Given the description of an element on the screen output the (x, y) to click on. 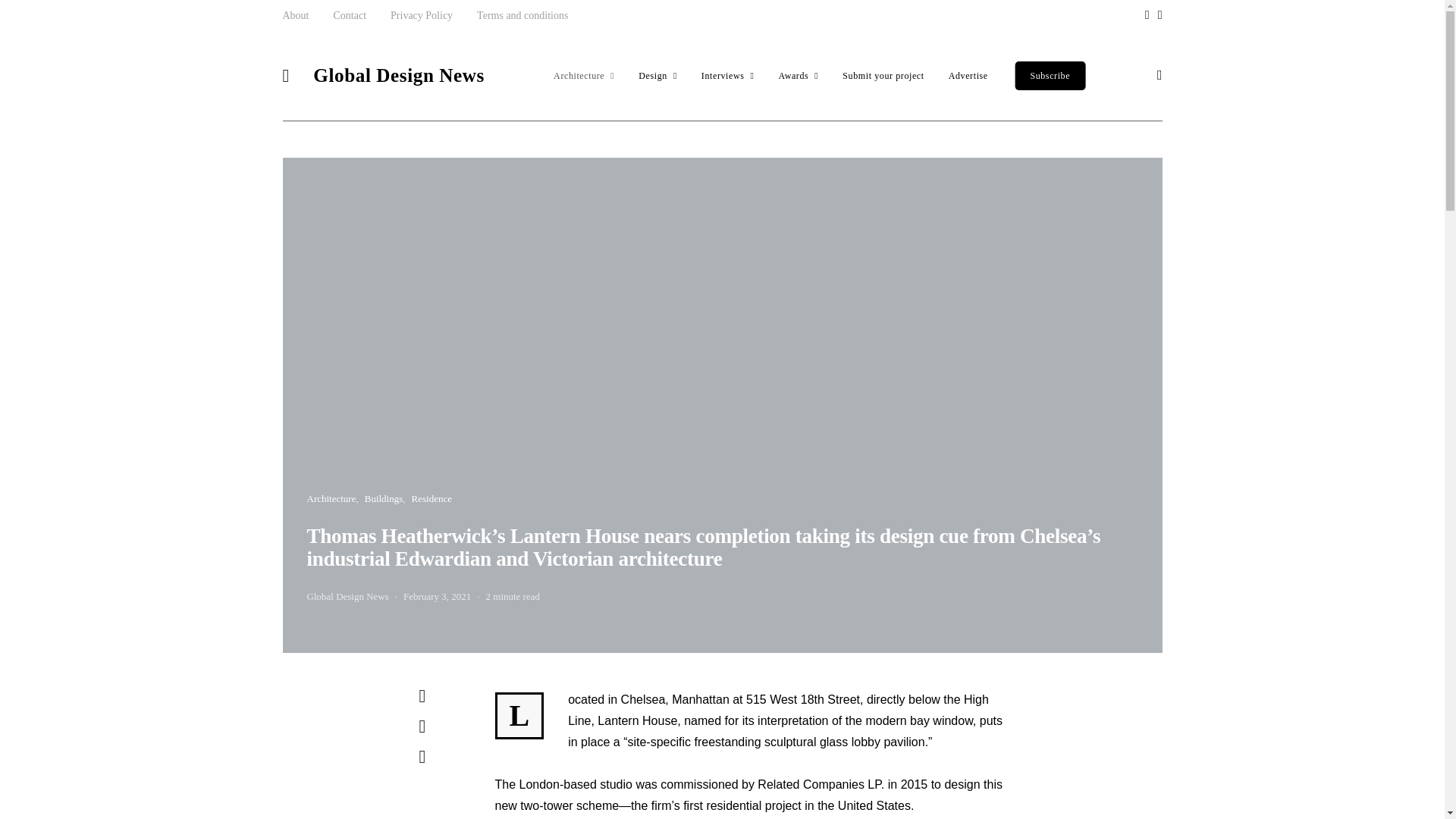
View all posts by Global Design News (346, 595)
